Given the description of an element on the screen output the (x, y) to click on. 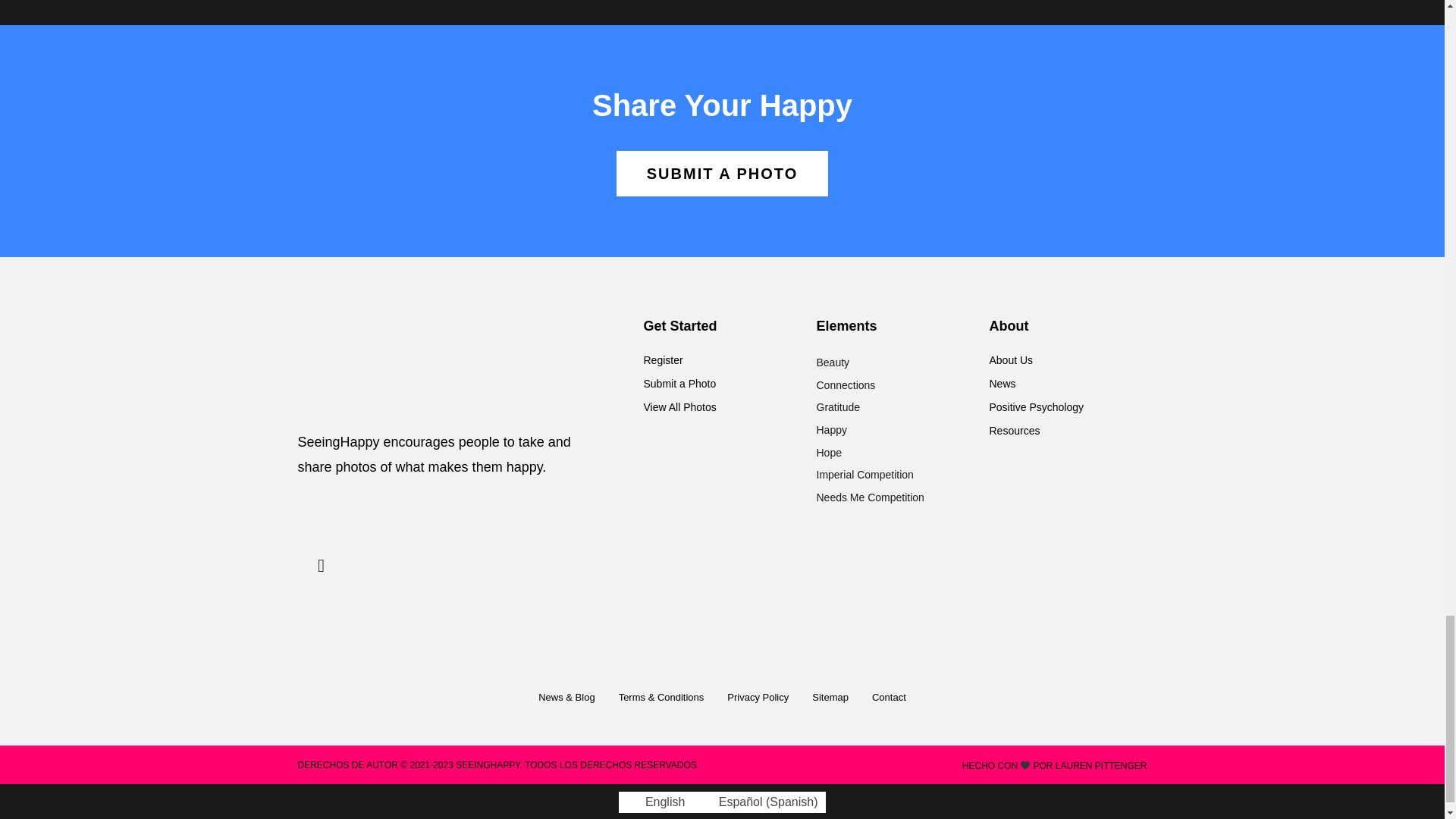
seeing-happy-logo-01 (446, 365)
